Given the description of an element on the screen output the (x, y) to click on. 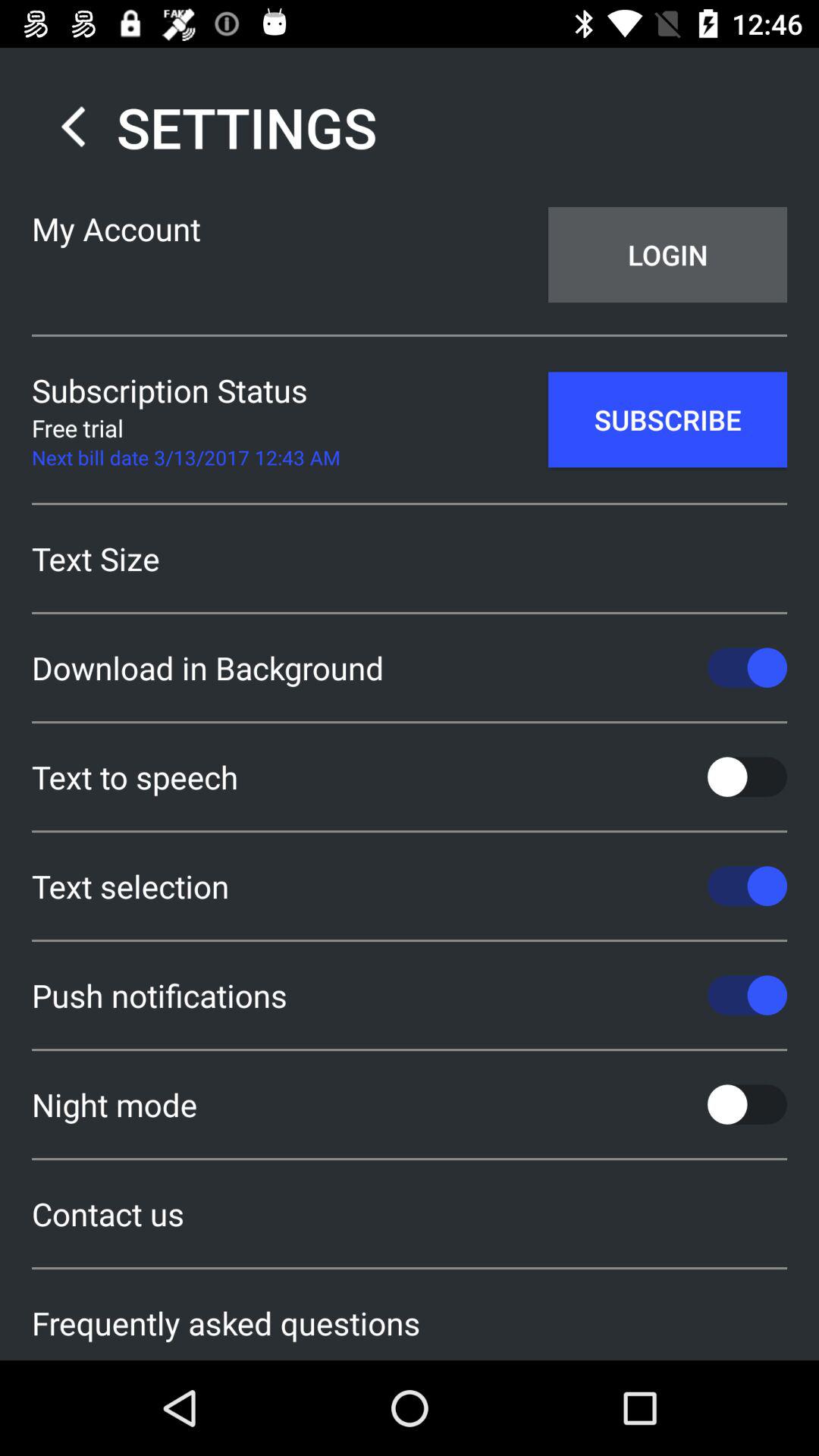
click the text to speech item (409, 776)
